Given the description of an element on the screen output the (x, y) to click on. 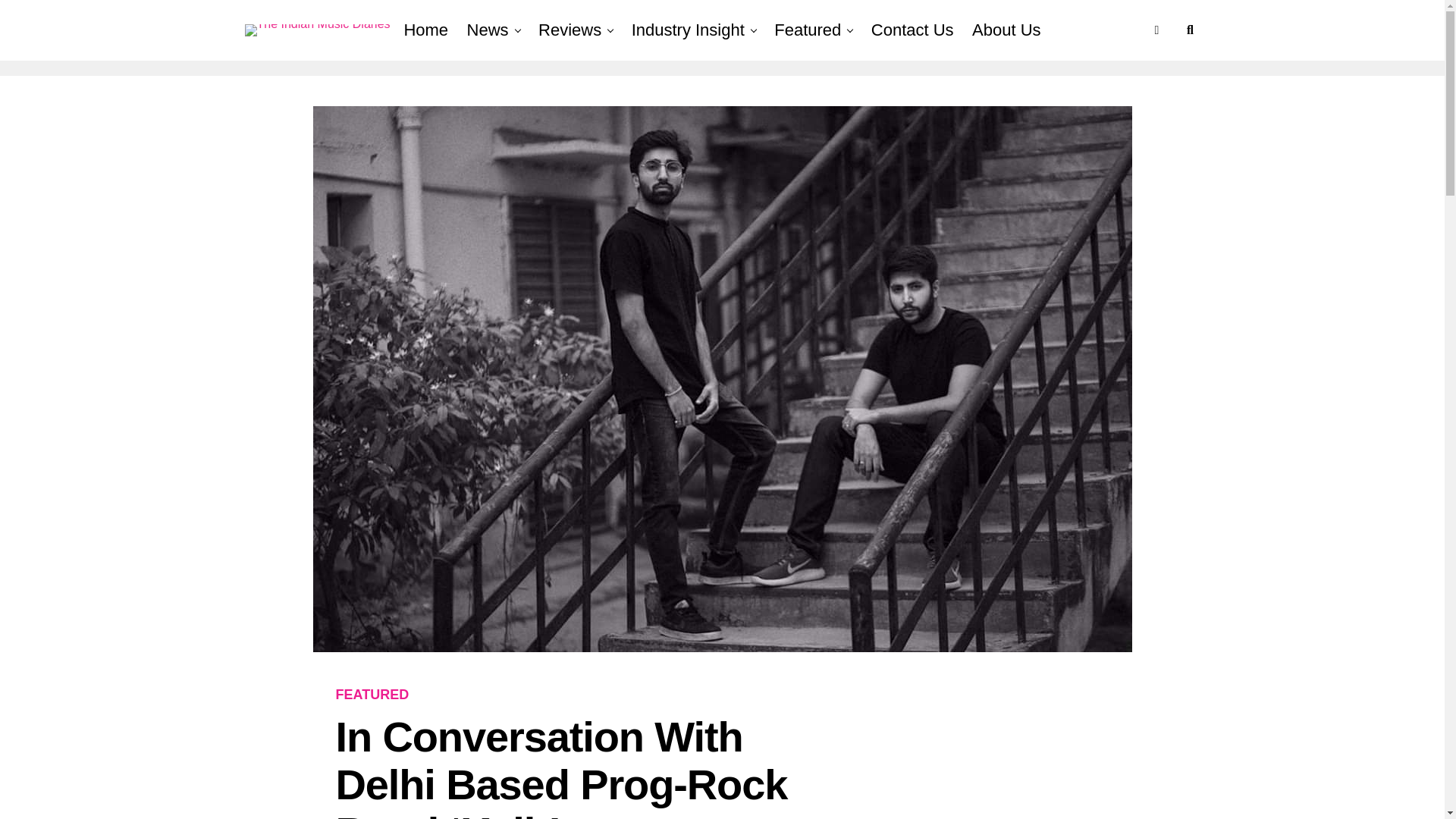
Industry Insight (688, 30)
Reviews (569, 30)
Home (425, 30)
Featured (807, 30)
News (488, 30)
